Given the description of an element on the screen output the (x, y) to click on. 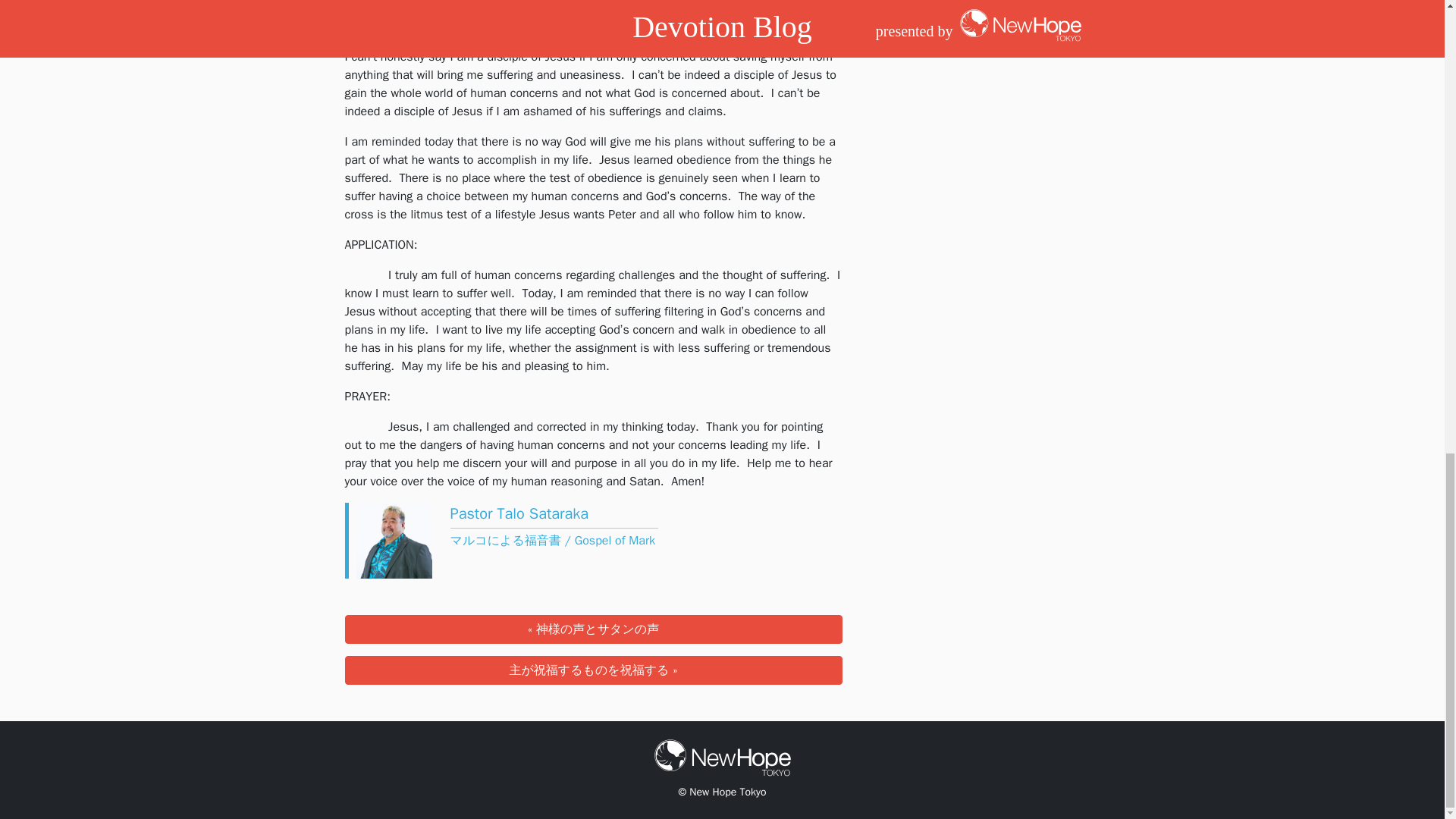
Pastor Talo Sataraka (519, 513)
